Given the description of an element on the screen output the (x, y) to click on. 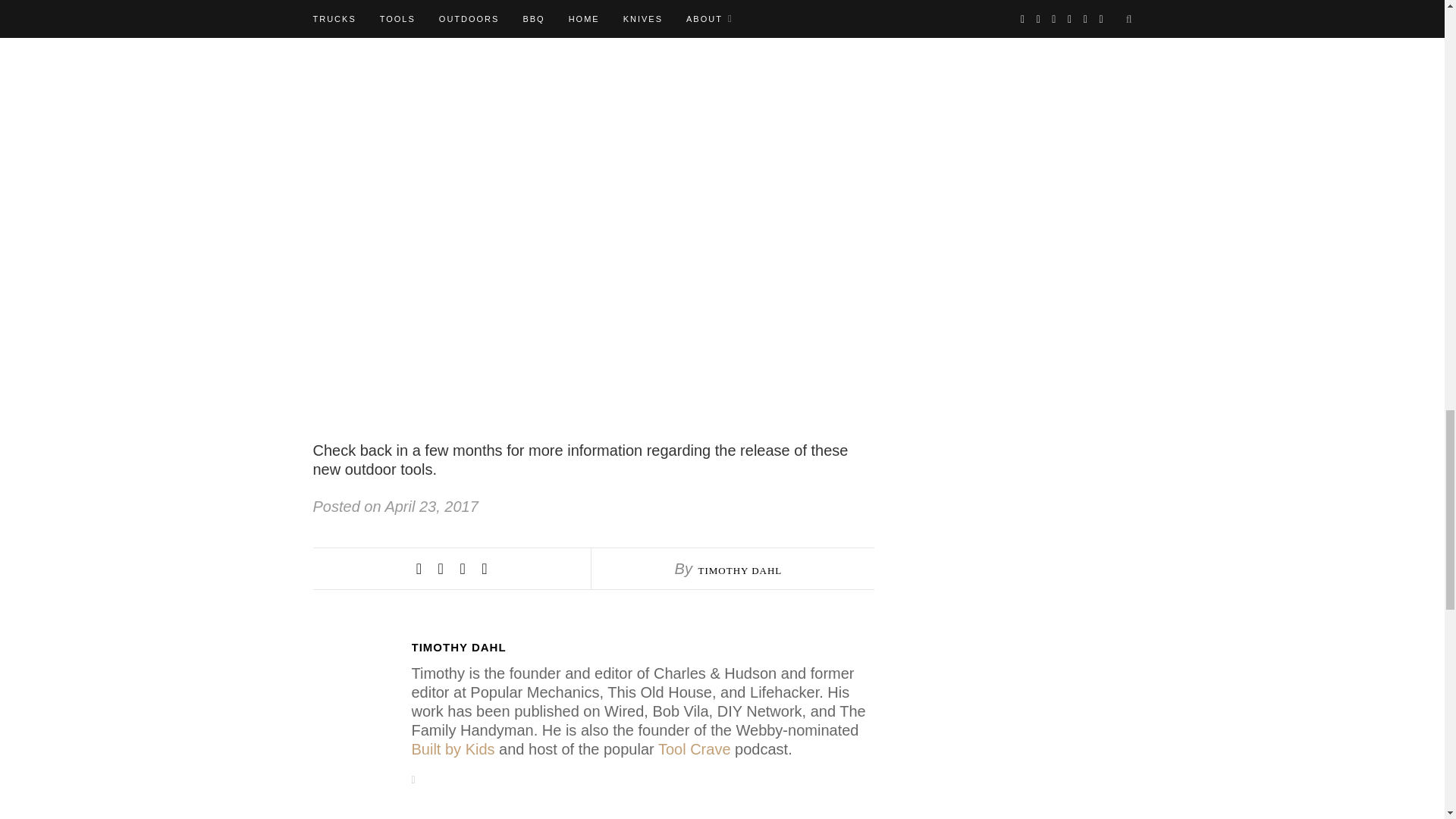
Posts by Timothy Dahl (641, 647)
Posts by Timothy Dahl (739, 570)
